Given the description of an element on the screen output the (x, y) to click on. 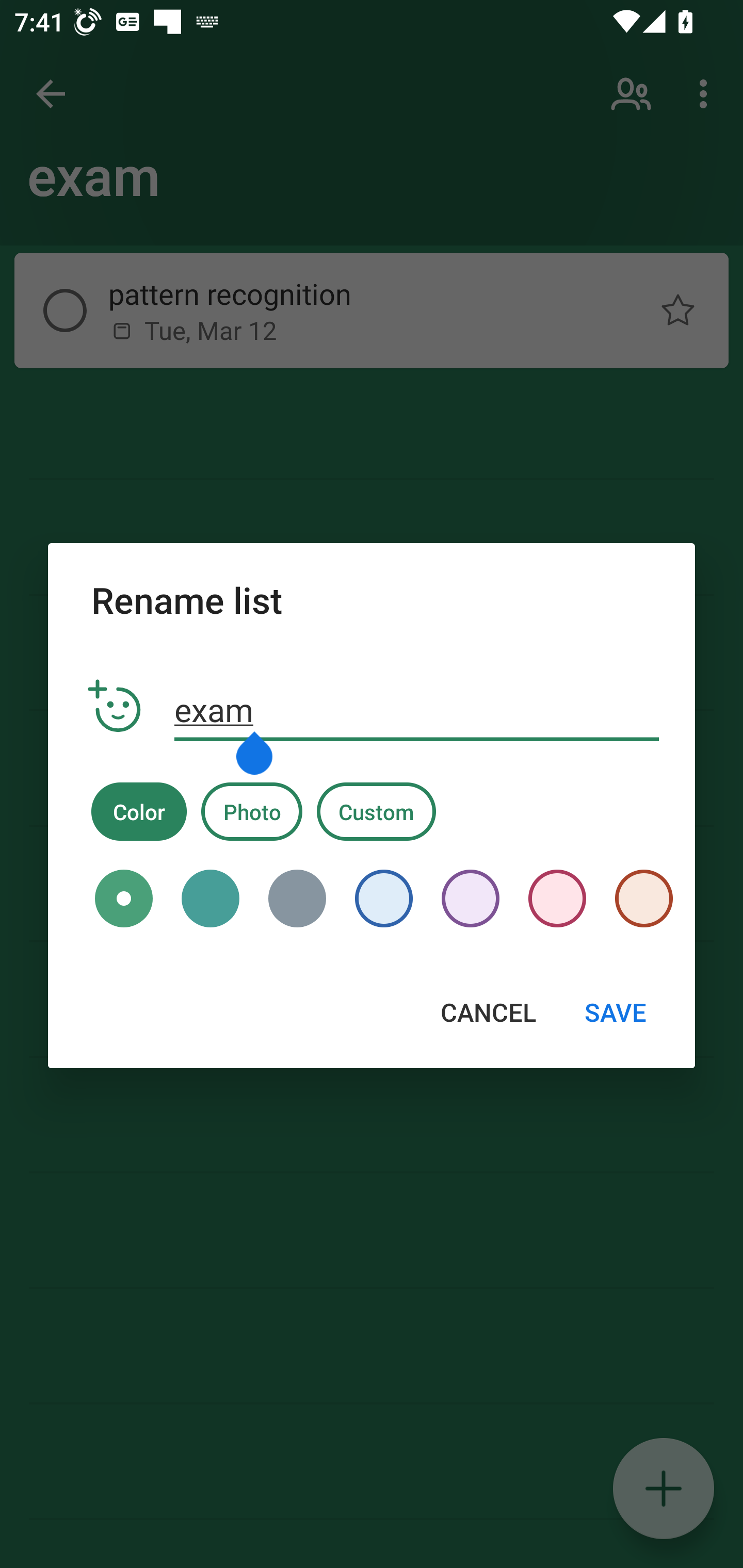
Set Emoji (114, 706)
exam (416, 710)
Color Color category (138, 811)
Photo Photo category (251, 811)
Custom Custom category (376, 811)
Selected, Dark green (123, 898)
Dark teal (210, 898)
Dark grey (297, 898)
Light blue (383, 898)
Light purple (470, 898)
Light rose (557, 898)
Light red (636, 898)
CANCEL (488, 1011)
SAVE (615, 1011)
